Given the description of an element on the screen output the (x, y) to click on. 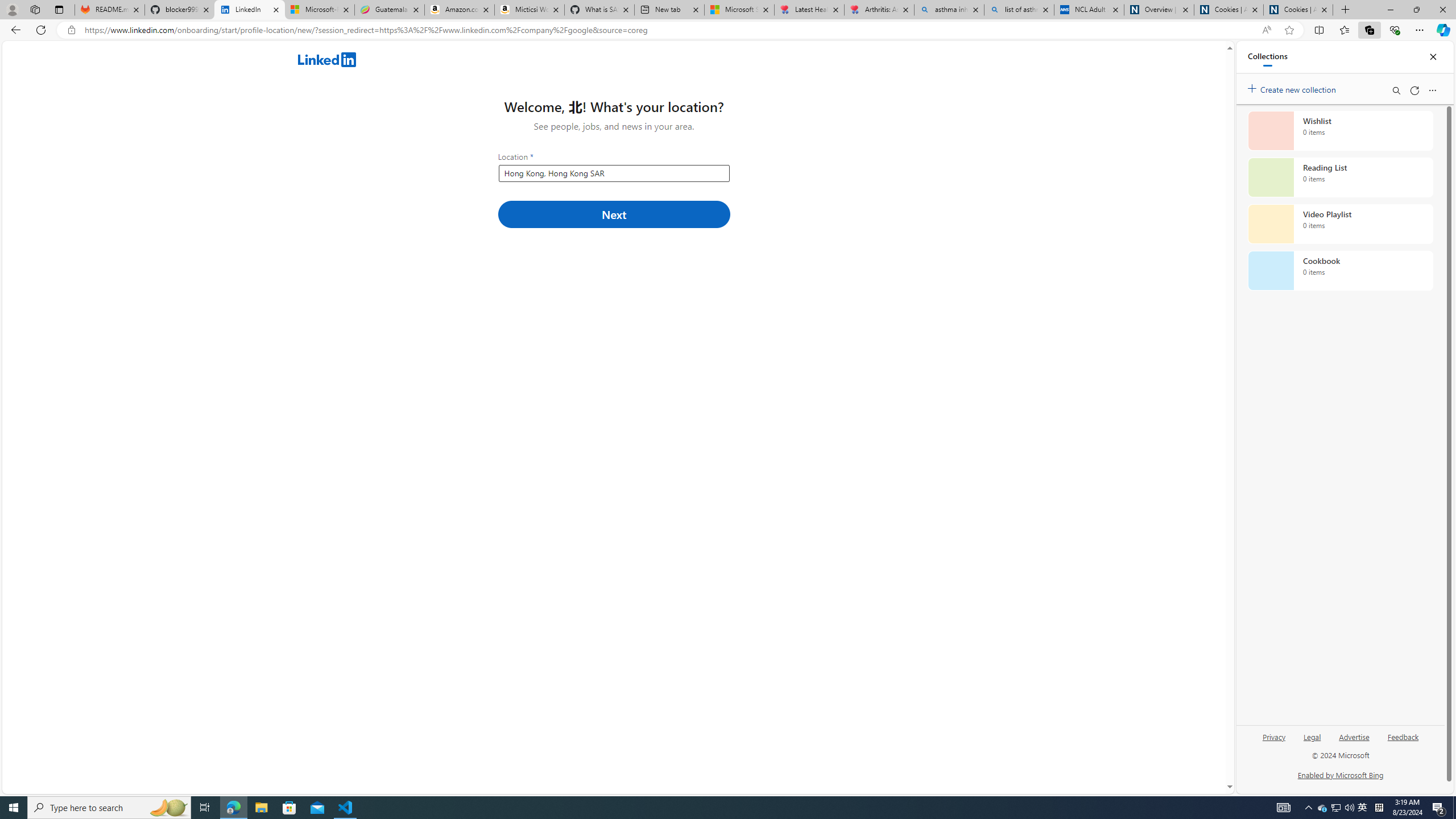
More options menu (1432, 90)
LinkedIn (249, 9)
